Given the description of an element on the screen output the (x, y) to click on. 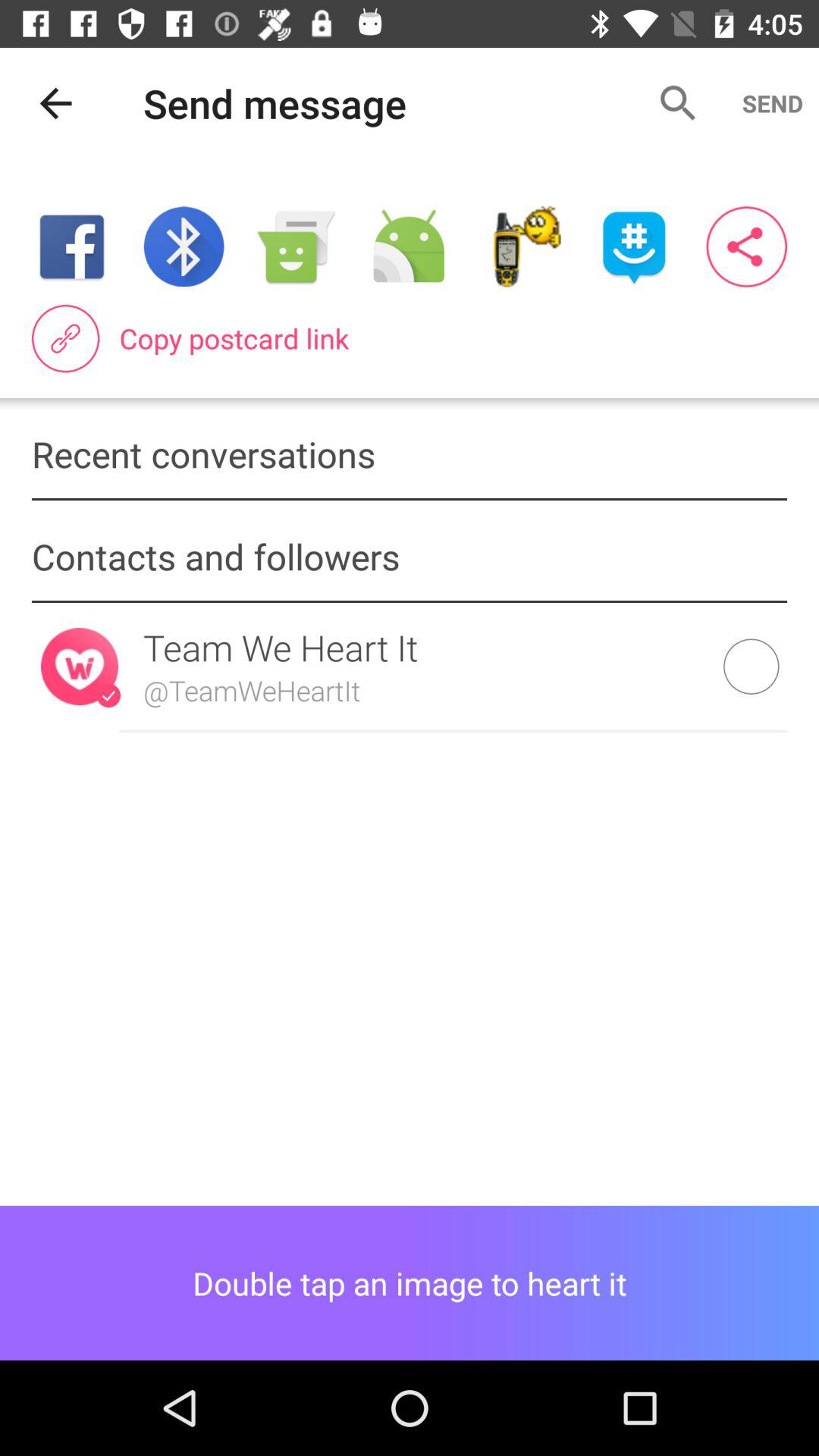
open app (633, 246)
